Given the description of an element on the screen output the (x, y) to click on. 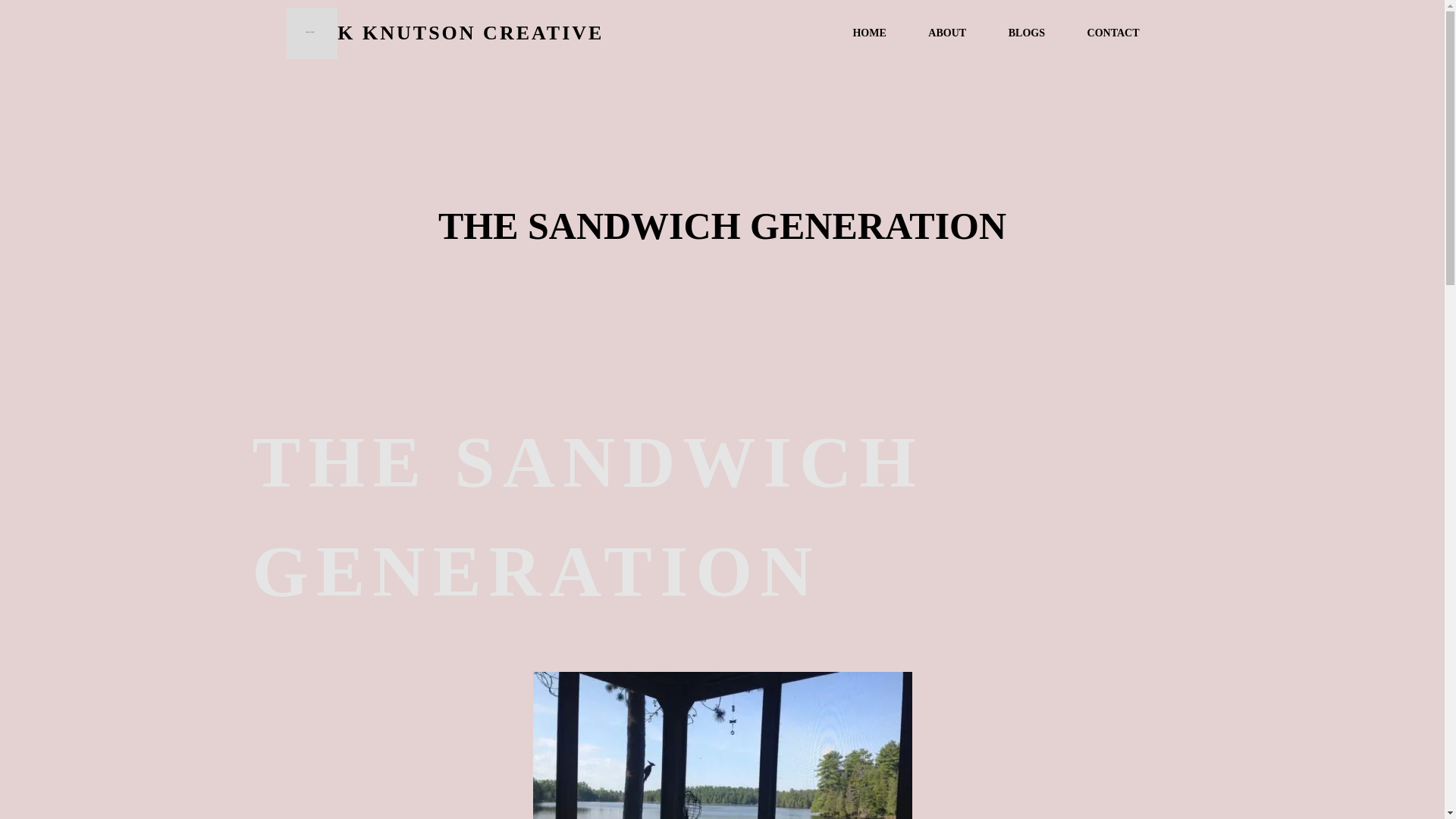
HOME (868, 33)
logo (311, 32)
K KNUTSON CREATIVE (500, 32)
ABOUT (946, 33)
CONTACT (1113, 33)
BLOGS (1027, 33)
